Given the description of an element on the screen output the (x, y) to click on. 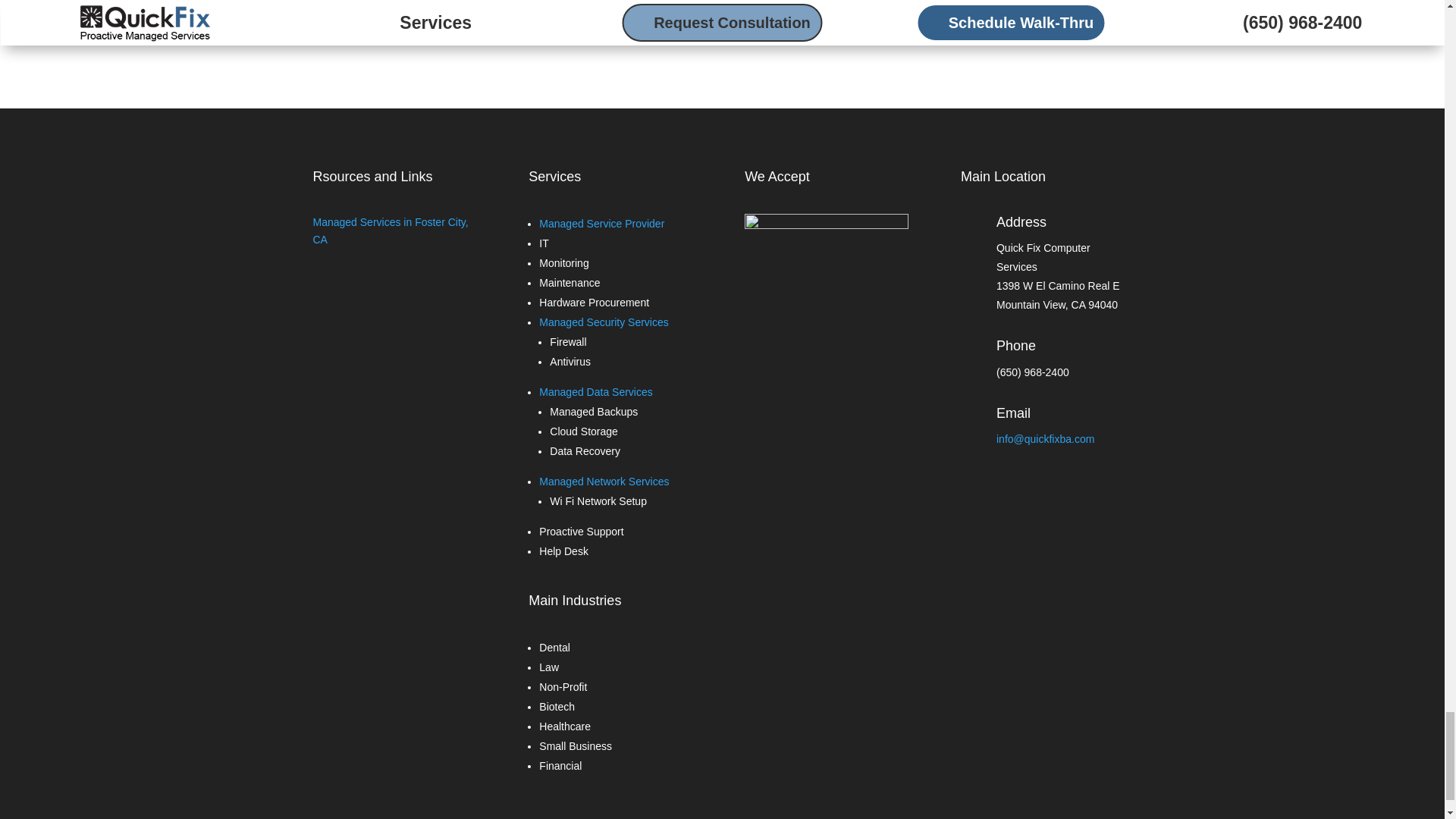
createmixandmingle.com (619, 15)
Managed Services in Foster City, CA (390, 231)
Managed Security Services (603, 322)
Managed Data Services (595, 391)
Managed Service Provider (600, 223)
Managed Network Services (603, 481)
